Given the description of an element on the screen output the (x, y) to click on. 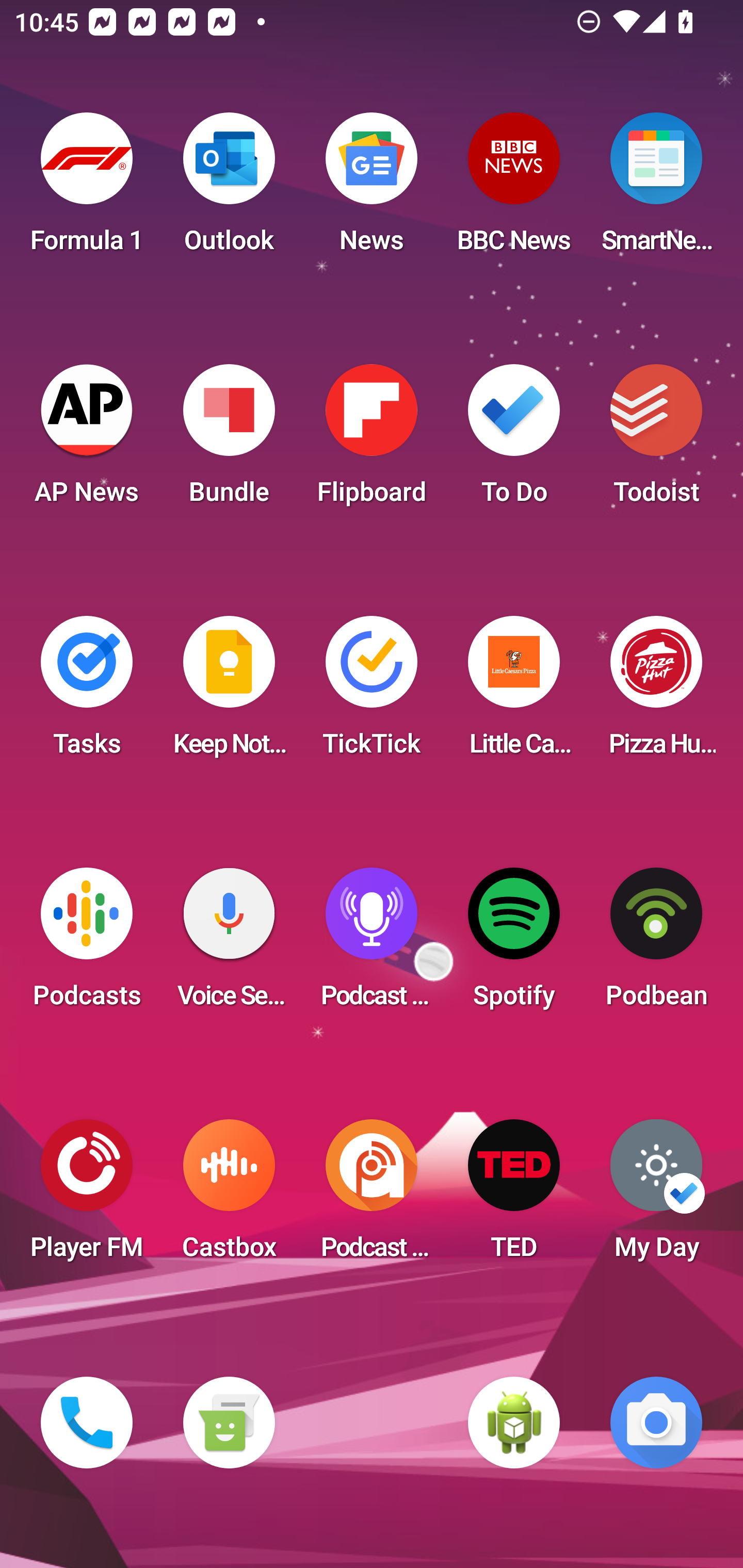
Formula 1 (86, 188)
Outlook (228, 188)
News (371, 188)
BBC News (513, 188)
SmartNews (656, 188)
AP News (86, 440)
Bundle (228, 440)
Flipboard (371, 440)
To Do (513, 440)
Todoist (656, 440)
Tasks (86, 692)
Keep Notes (228, 692)
TickTick (371, 692)
Little Caesars Pizza (513, 692)
Pizza Hut HK & Macau (656, 692)
Podcasts (86, 943)
Voice Search (228, 943)
Podcast Player (371, 943)
Spotify (513, 943)
Podbean (656, 943)
Player FM (86, 1195)
Castbox (228, 1195)
Podcast Addict (371, 1195)
TED (513, 1195)
My Day (656, 1195)
Phone (86, 1422)
Messaging (228, 1422)
WebView Browser Tester (513, 1422)
Camera (656, 1422)
